Given the description of an element on the screen output the (x, y) to click on. 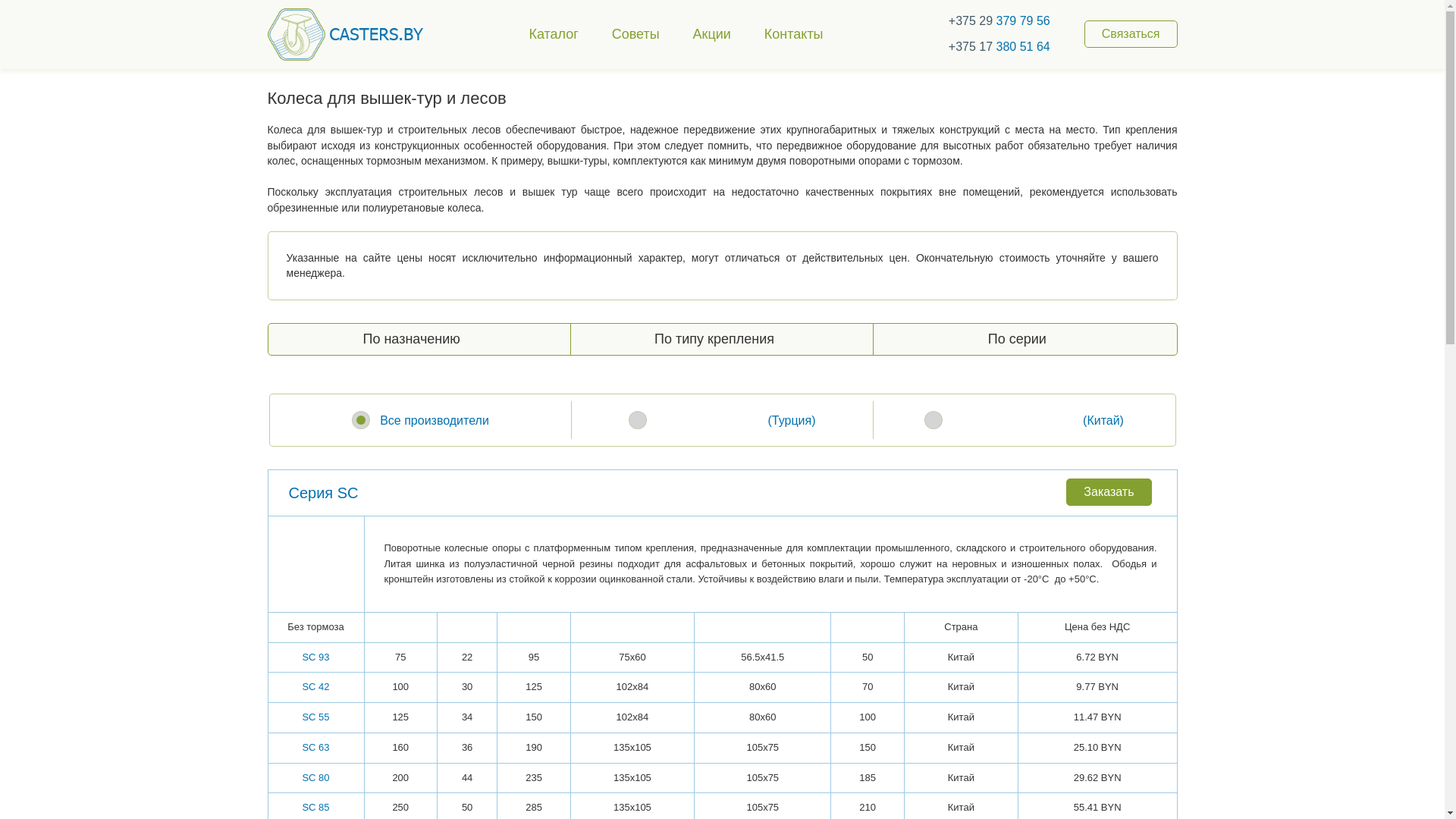
  +375 17 380 51 64 Element type: text (988, 46)
  +375 29 379 79 56 Element type: text (988, 20)
